Given the description of an element on the screen output the (x, y) to click on. 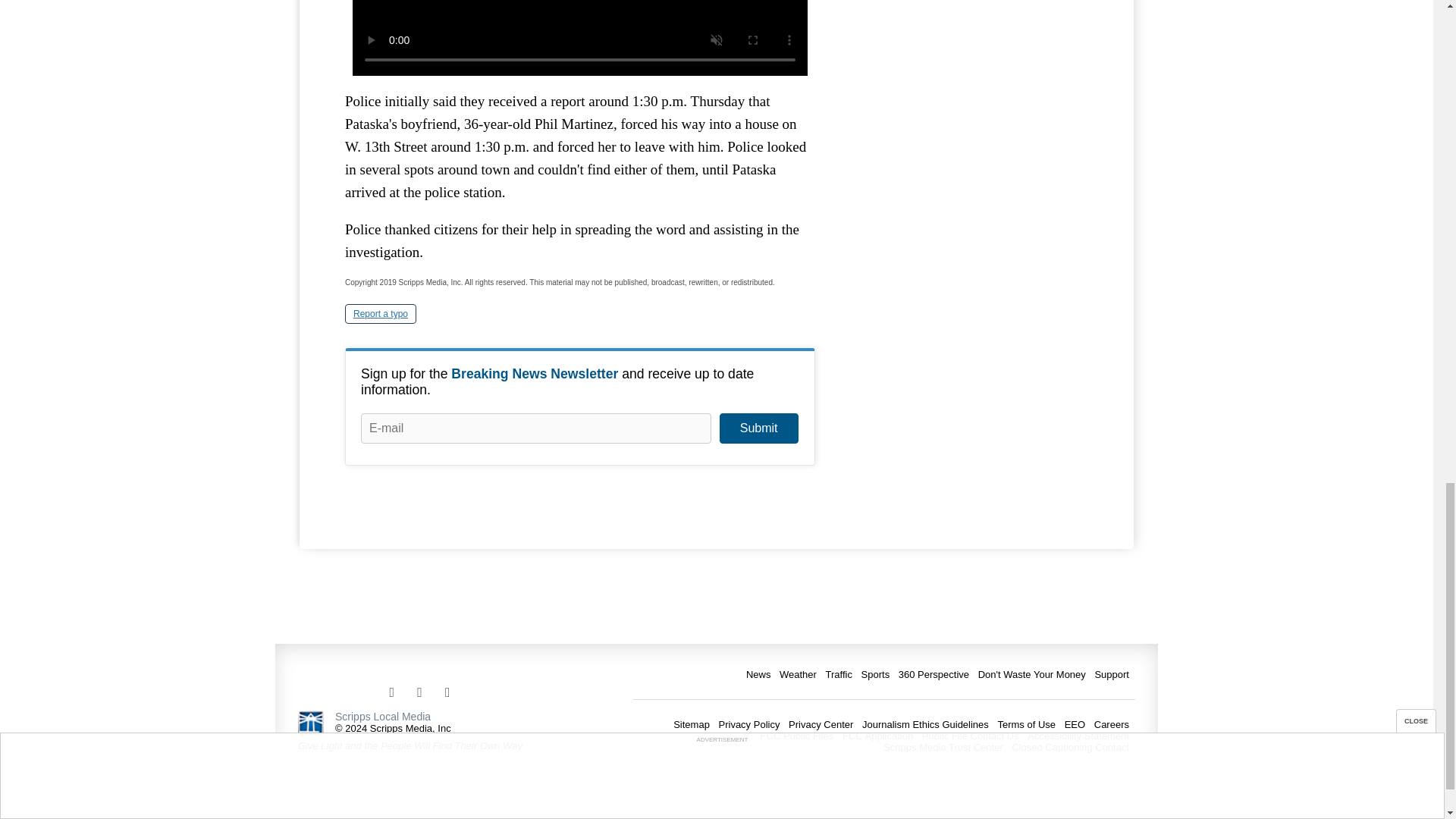
Submit (758, 428)
